Given the description of an element on the screen output the (x, y) to click on. 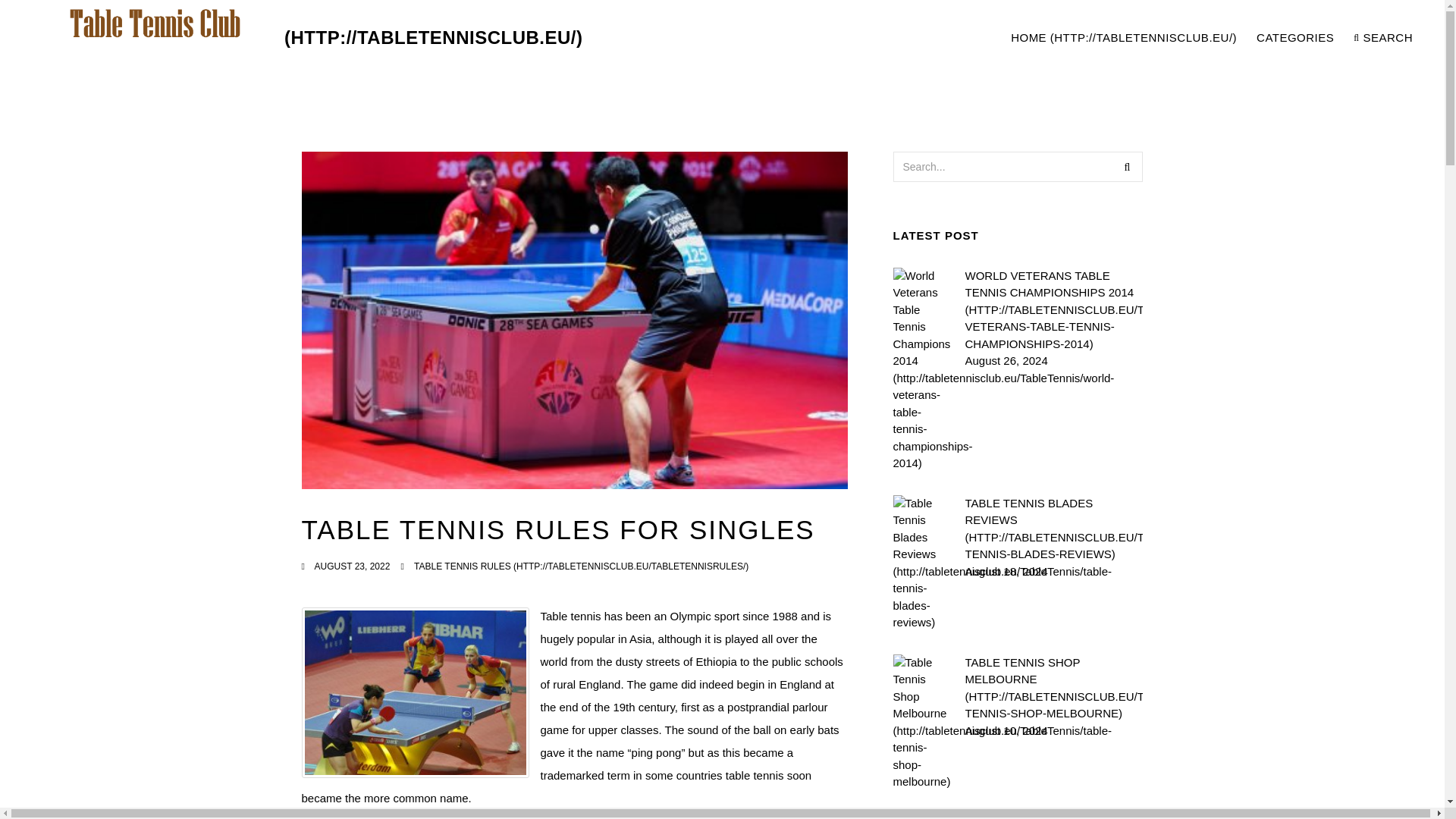
WORLD VETERANS TABLE TENNIS CHAMPIONSHIPS 2014 (1052, 309)
Search (1126, 166)
TABLE TENNIS RULES (580, 566)
SEARCH (1382, 38)
TABLE TENNIS SHOP MELBOURNE (1052, 687)
CATEGORIES (1294, 38)
NORTH AMERICAN TABLE TENNIS (1052, 816)
Table Tennis Club (303, 38)
TABLE TENNIS BLADES REVIEWS (1052, 528)
HOME (1123, 38)
